Given the description of an element on the screen output the (x, y) to click on. 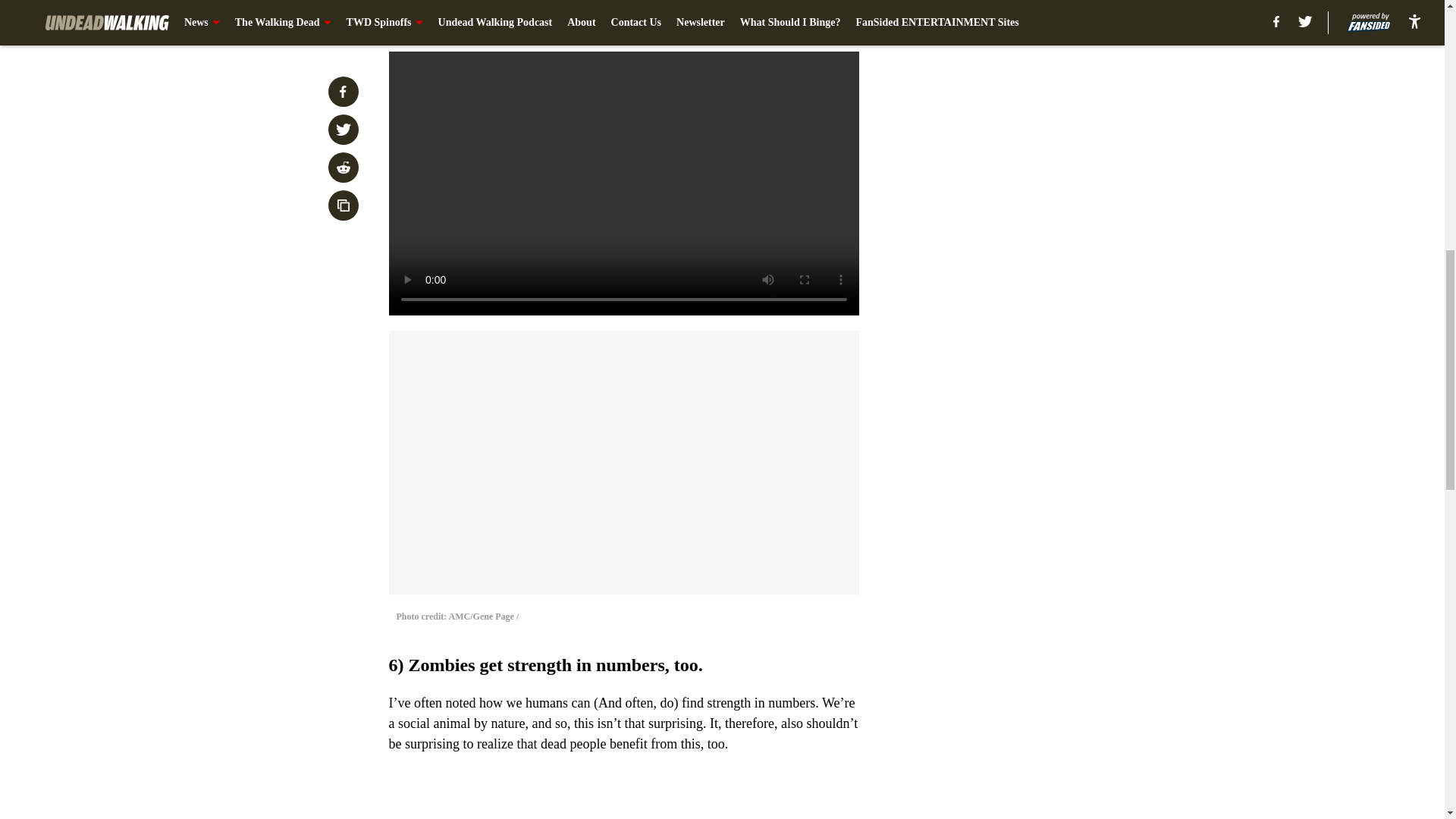
Next (813, 20)
Prev (433, 20)
3rd party ad content (1047, 100)
3rd party ad content (1047, 320)
